Given the description of an element on the screen output the (x, y) to click on. 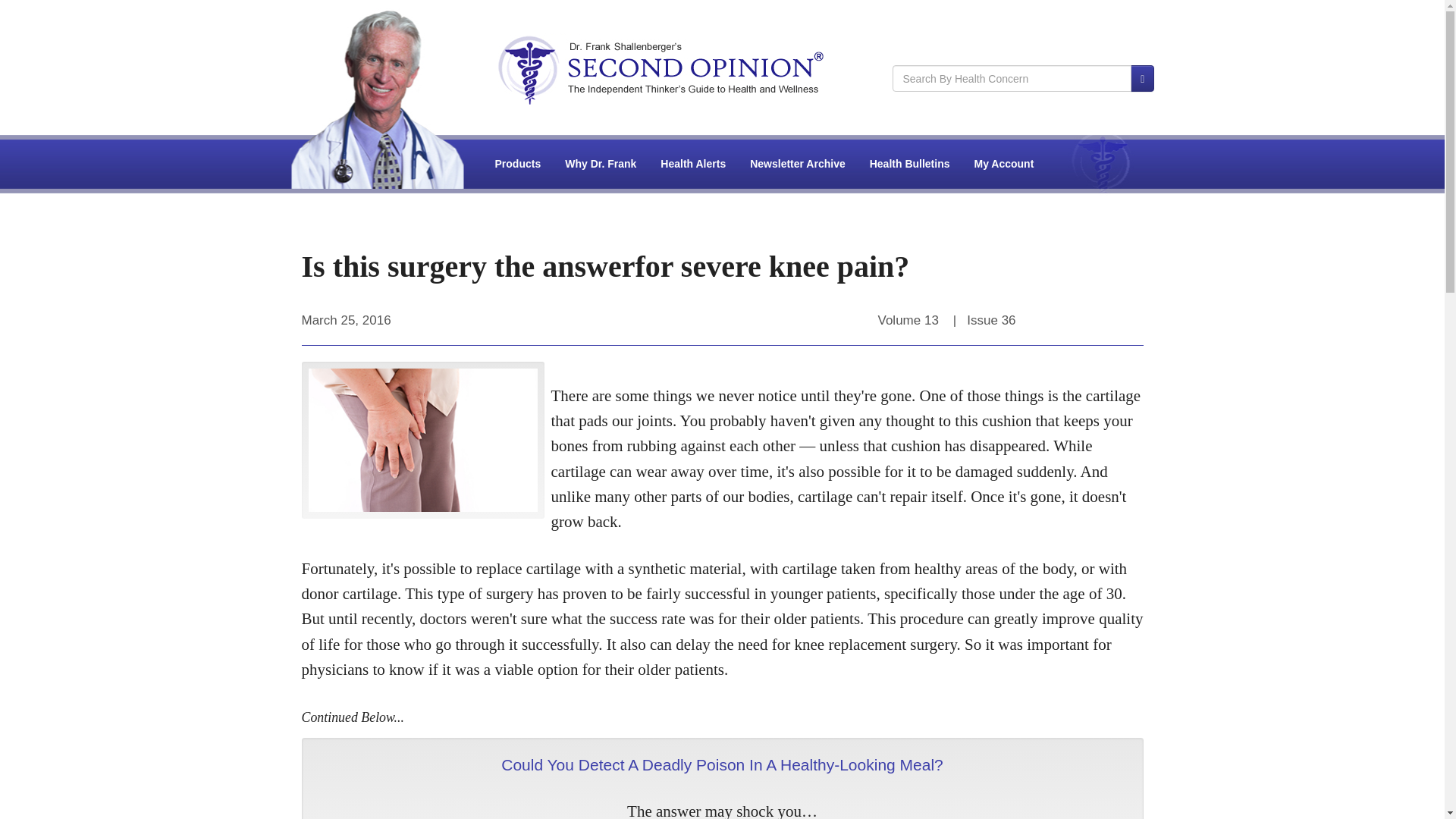
Products (518, 164)
Why Dr. Frank (600, 164)
Health Bulletins (909, 164)
Newsletter Archive (797, 164)
Health Alerts (692, 164)
My Account (1003, 164)
